Given the description of an element on the screen output the (x, y) to click on. 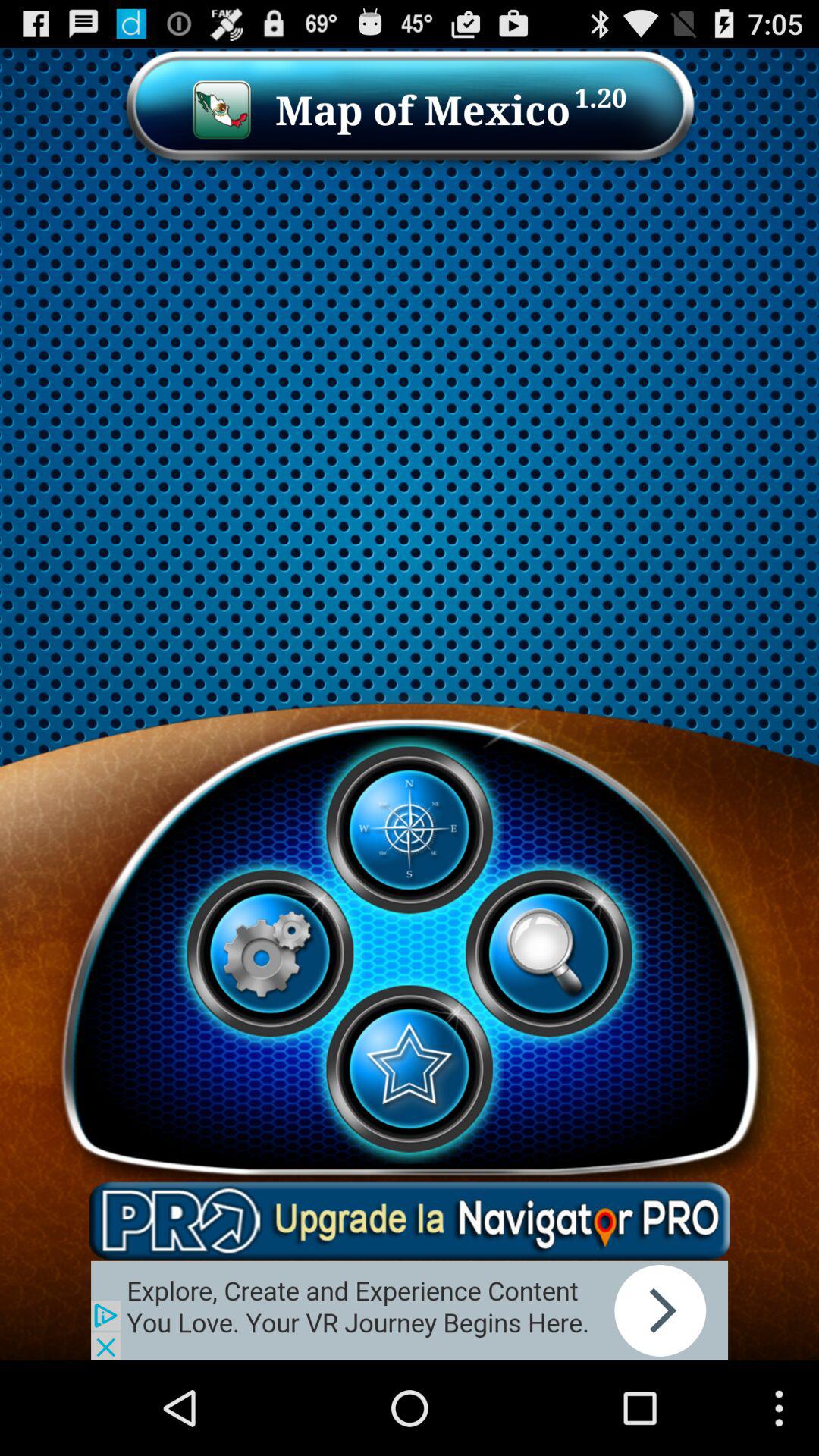
settings (269, 953)
